Given the description of an element on the screen output the (x, y) to click on. 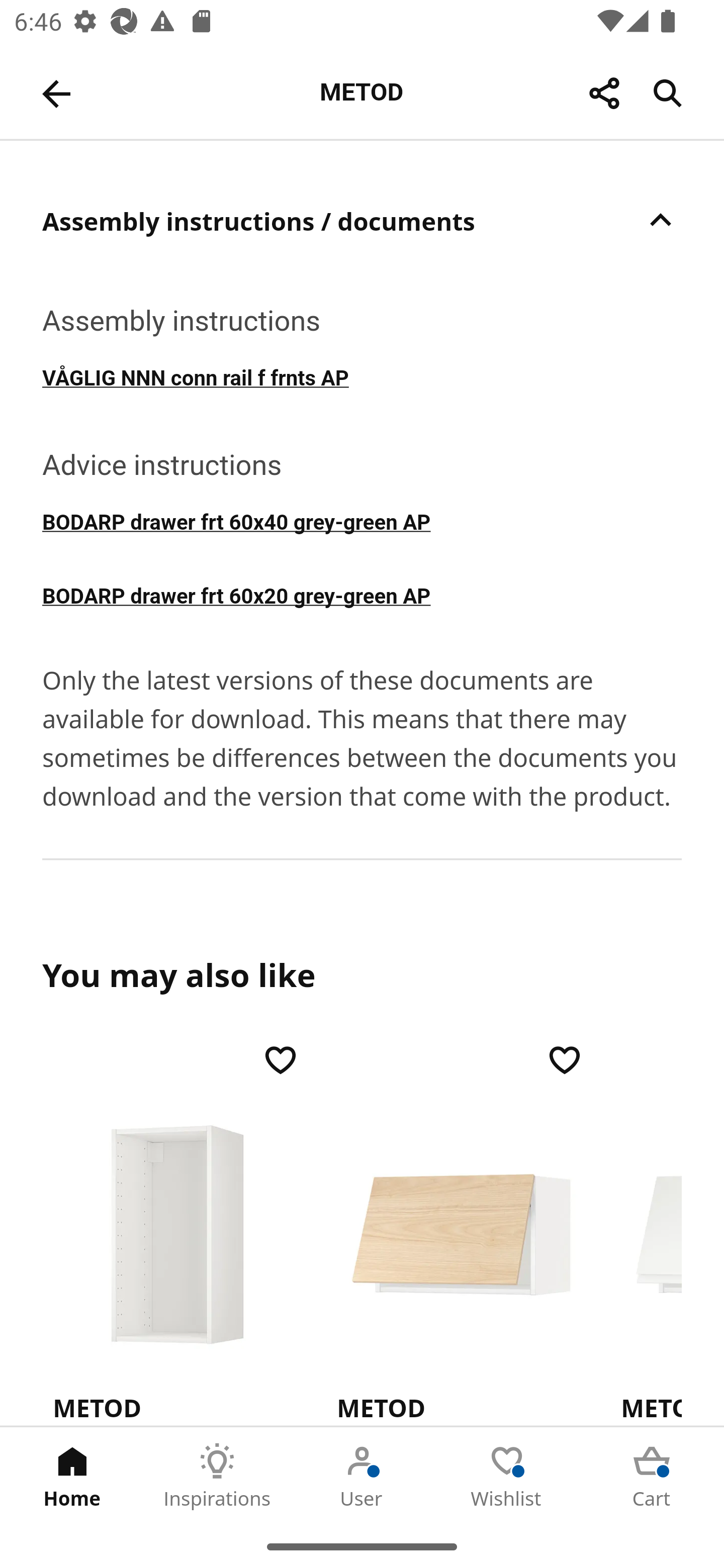
Assembly instructions / documents (361, 219)
VÅGLIG NNN conn rail f frnts AP (361, 376)
BODARP drawer frt 60x40 grey-green AP (361, 520)
BODARP drawer frt 60x20 grey-green AP (361, 593)
Home
Tab 1 of 5 (72, 1476)
Inspirations
Tab 2 of 5 (216, 1476)
User
Tab 3 of 5 (361, 1476)
Wishlist
Tab 4 of 5 (506, 1476)
Cart
Tab 5 of 5 (651, 1476)
